Given the description of an element on the screen output the (x, y) to click on. 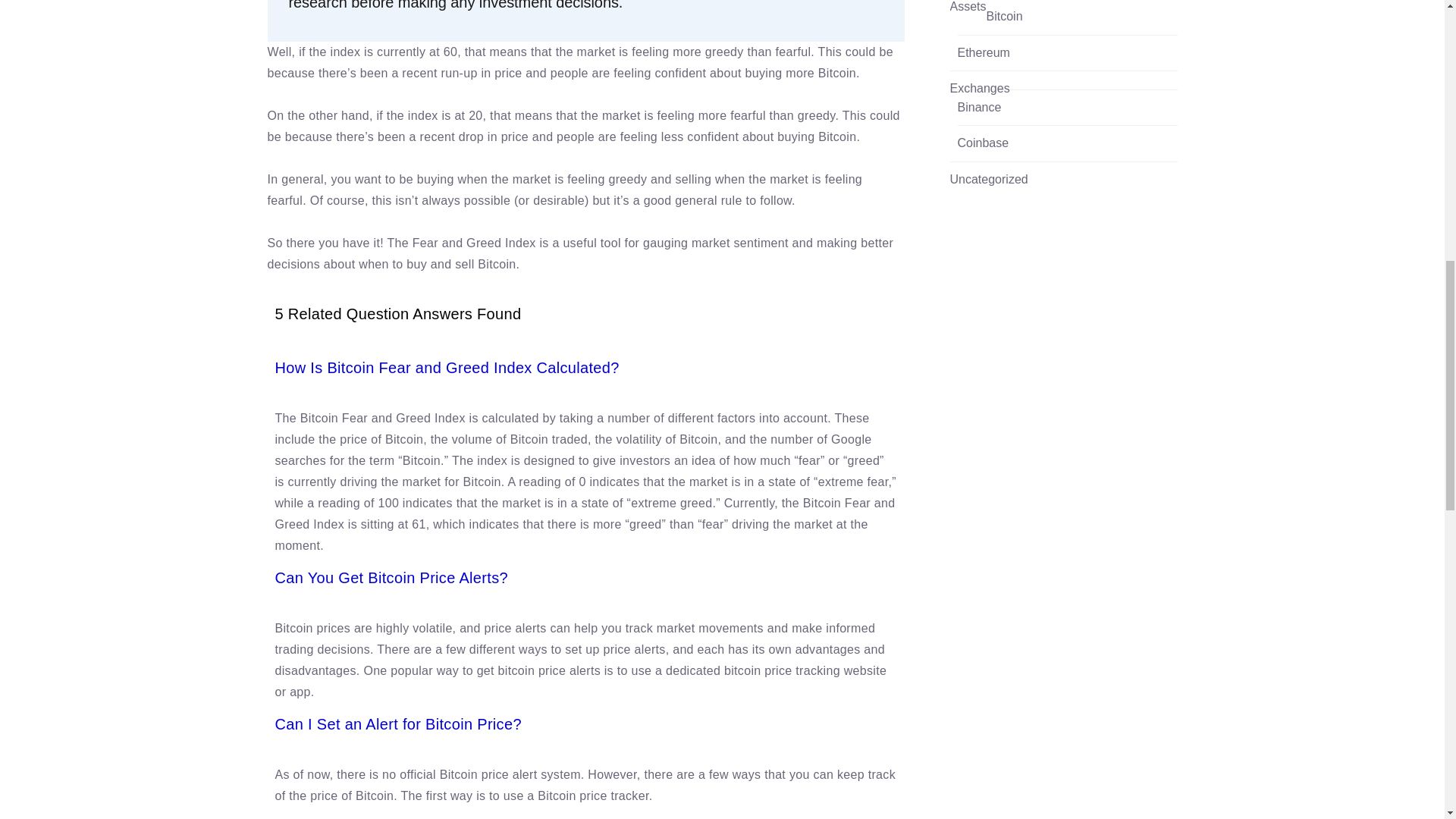
Assets (967, 7)
Uncategorized (988, 179)
How Is Bitcoin Fear and Greed Index Calculated? (446, 367)
Can You Get Bitcoin Price Alerts? (390, 577)
Binance (978, 107)
Ethereum (982, 53)
Exchanges (979, 88)
Coinbase (982, 143)
Can I Set an Alert for Bitcoin Price? (398, 723)
Bitcoin (1005, 16)
